Given the description of an element on the screen output the (x, y) to click on. 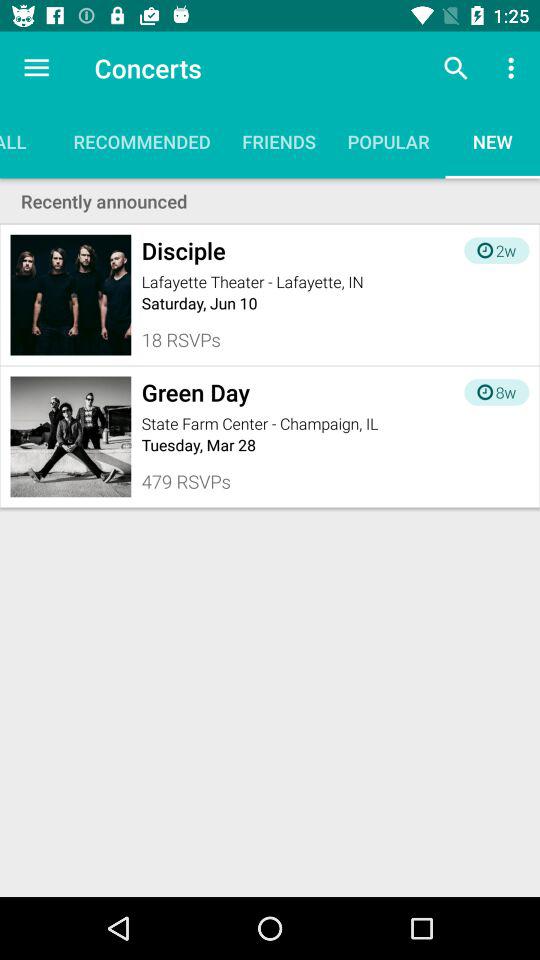
turn on item next to concerts item (36, 68)
